Given the description of an element on the screen output the (x, y) to click on. 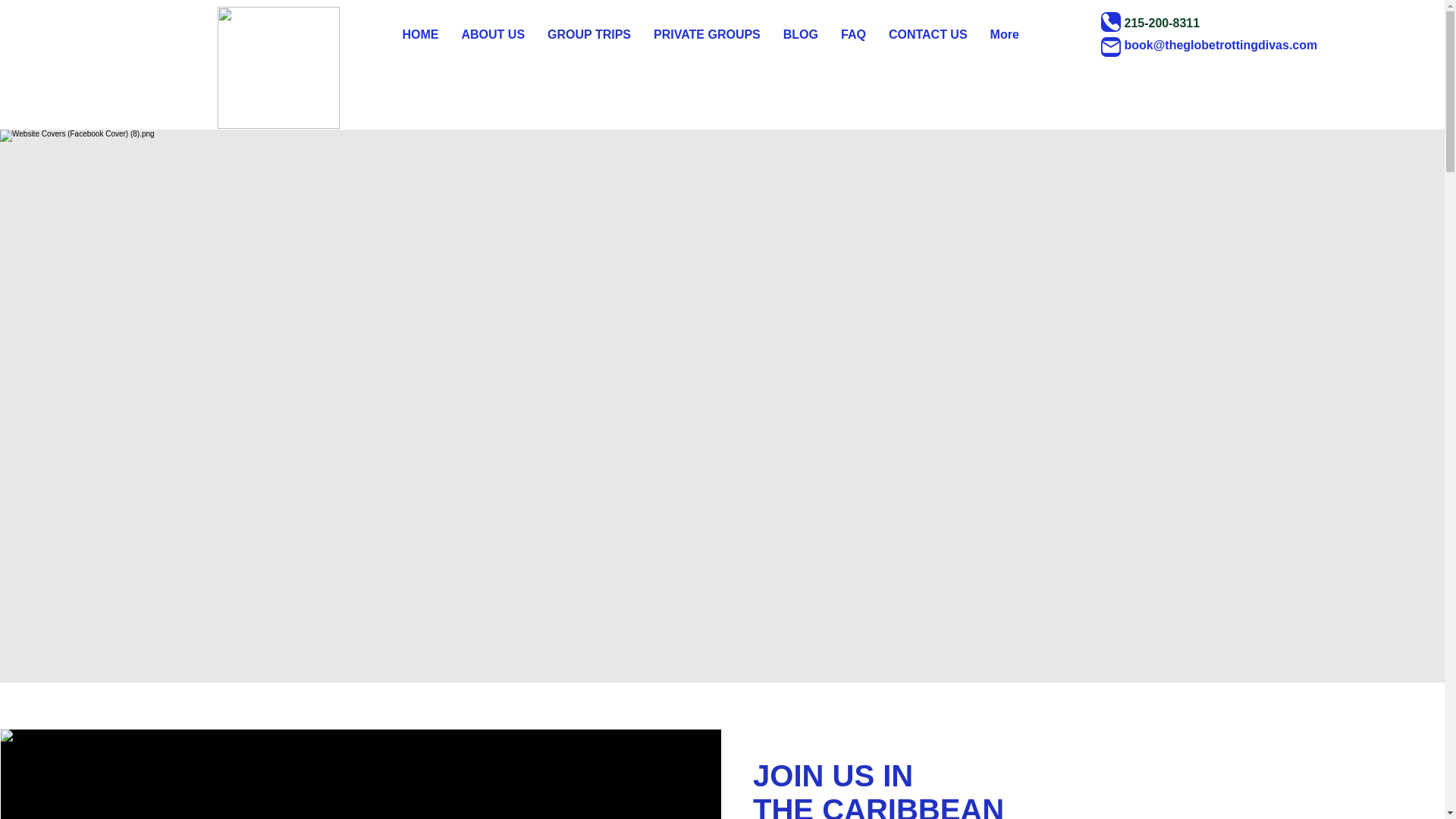
FAQ (853, 45)
GROUP TRIPS (588, 45)
PRIVATE GROUPS (706, 45)
HOME (420, 45)
CONTACT US (927, 45)
ABOUT US (493, 45)
BLOG (800, 45)
